Given the description of an element on the screen output the (x, y) to click on. 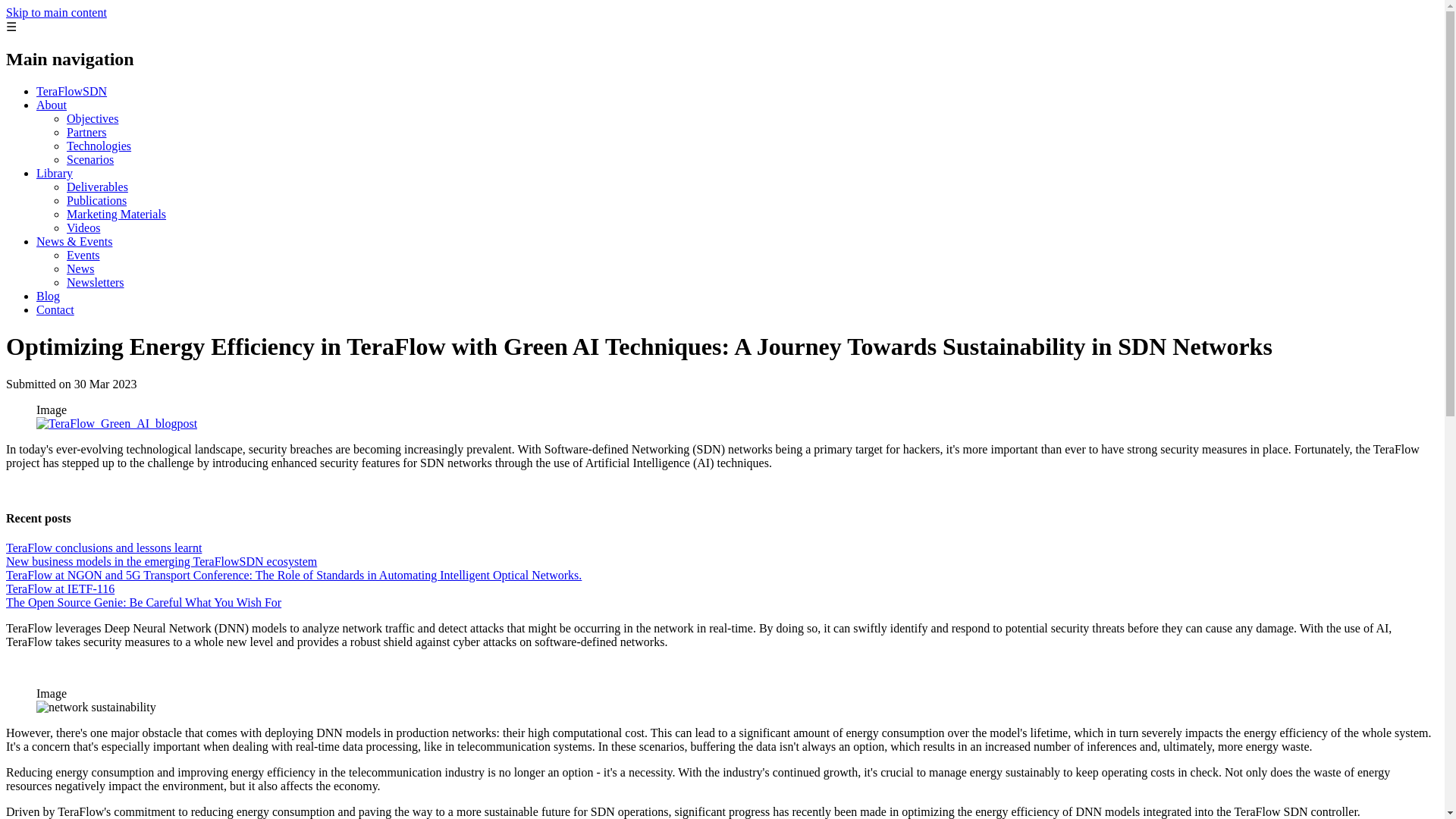
Contact (55, 309)
TeraFlow conclusions and lessons learnt (103, 547)
Deliverables (97, 186)
Technologies (98, 145)
Newsletters (94, 282)
New business models in the emerging TeraFlowSDN ecosystem (161, 561)
Partners (86, 132)
Objectives (91, 118)
TeraFlow at IETF-116 (60, 588)
